Given the description of an element on the screen output the (x, y) to click on. 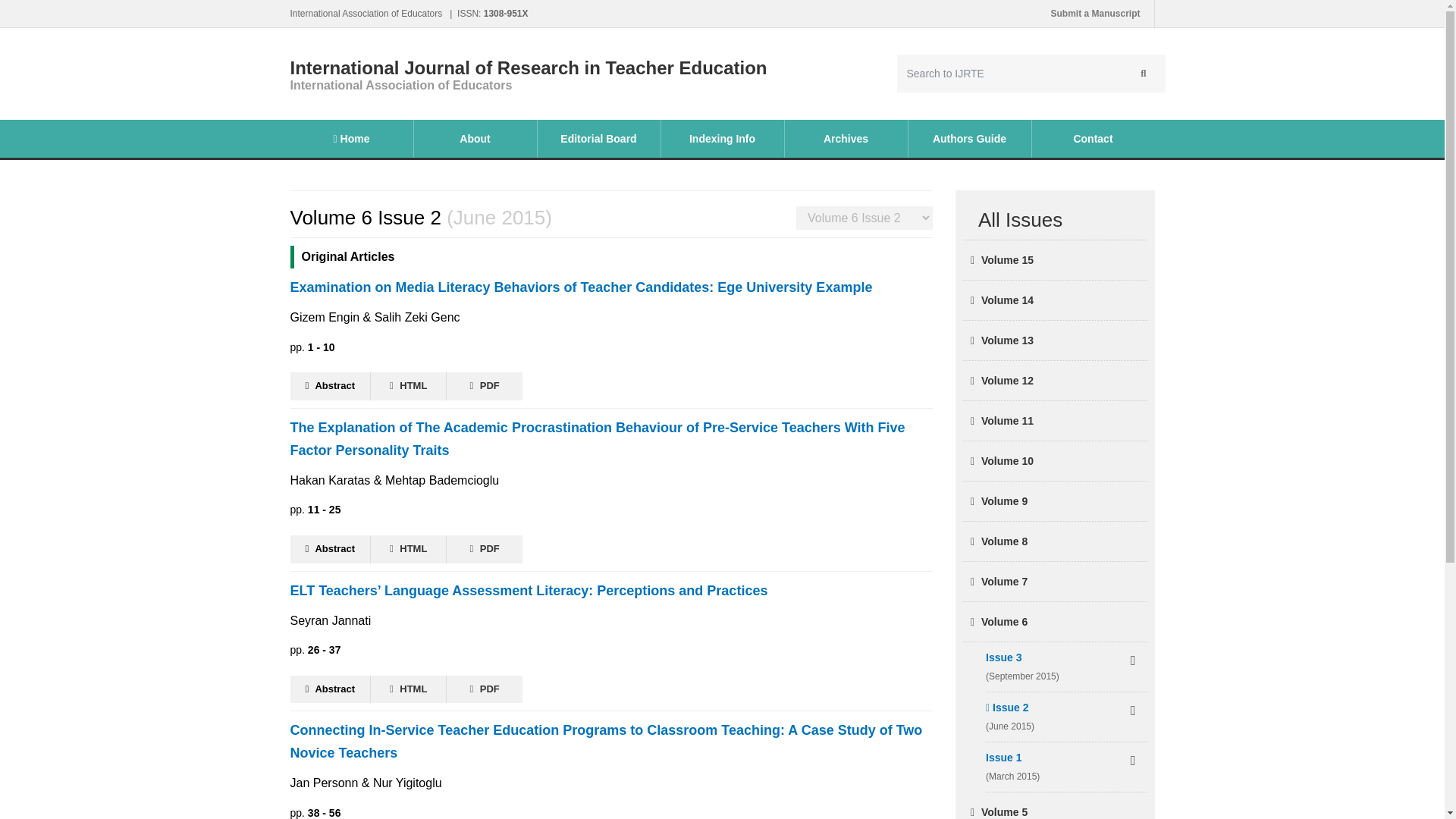
PDF (484, 549)
About (475, 138)
Submit a Manuscript (1094, 13)
Authors Guide (969, 138)
Abstract (330, 689)
Archives (845, 138)
Contact (1092, 138)
PDF (484, 689)
